Given the description of an element on the screen output the (x, y) to click on. 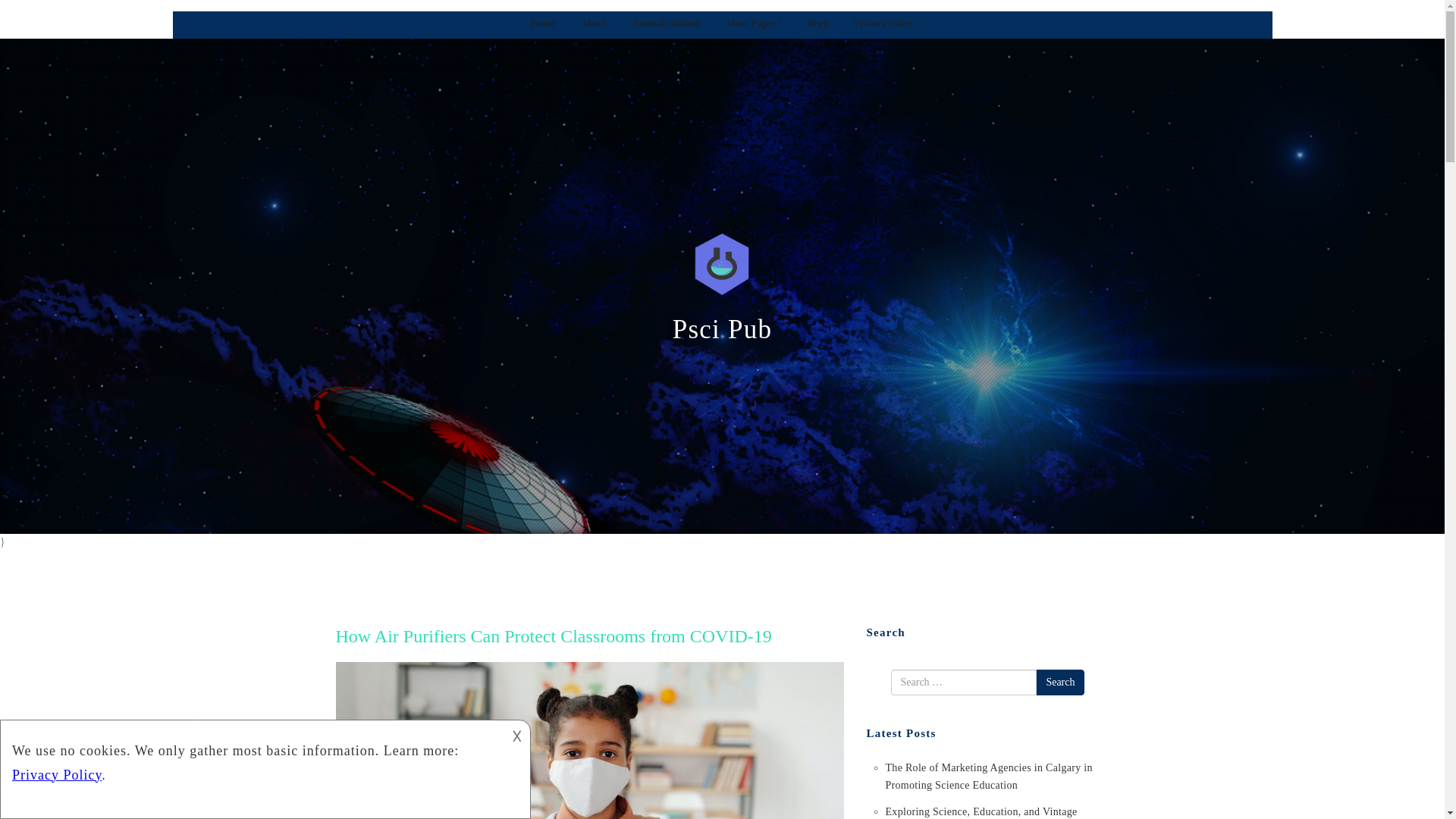
Home (542, 25)
description (252, 758)
How Air Purifiers Can Protect Classrooms from COVID-19 (552, 636)
Search (1059, 682)
Search (1059, 682)
Mwp (818, 25)
More Pages (753, 25)
How Air Purifiers Can Protect Classrooms from COVID-19 (552, 636)
Journals Default (665, 25)
Privacy Policy (884, 25)
About (593, 25)
Exploring Science, Education, and Vintage Trailers (981, 812)
